Given the description of an element on the screen output the (x, y) to click on. 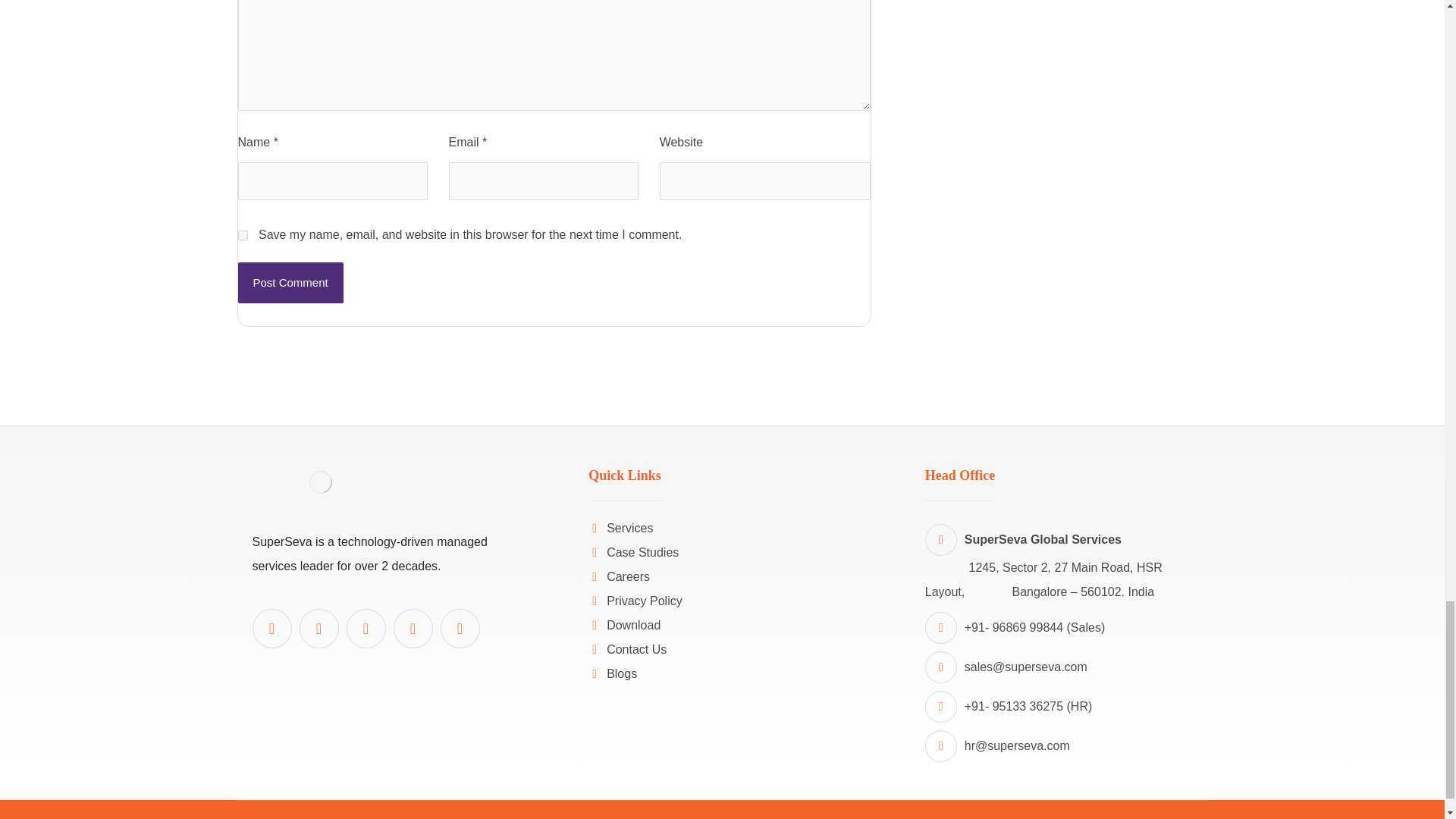
youtube (317, 628)
Linkedin (271, 628)
Twitter (412, 628)
Facebook (365, 628)
Instagram (459, 628)
yes (242, 235)
Post Comment (290, 282)
